Given the description of an element on the screen output the (x, y) to click on. 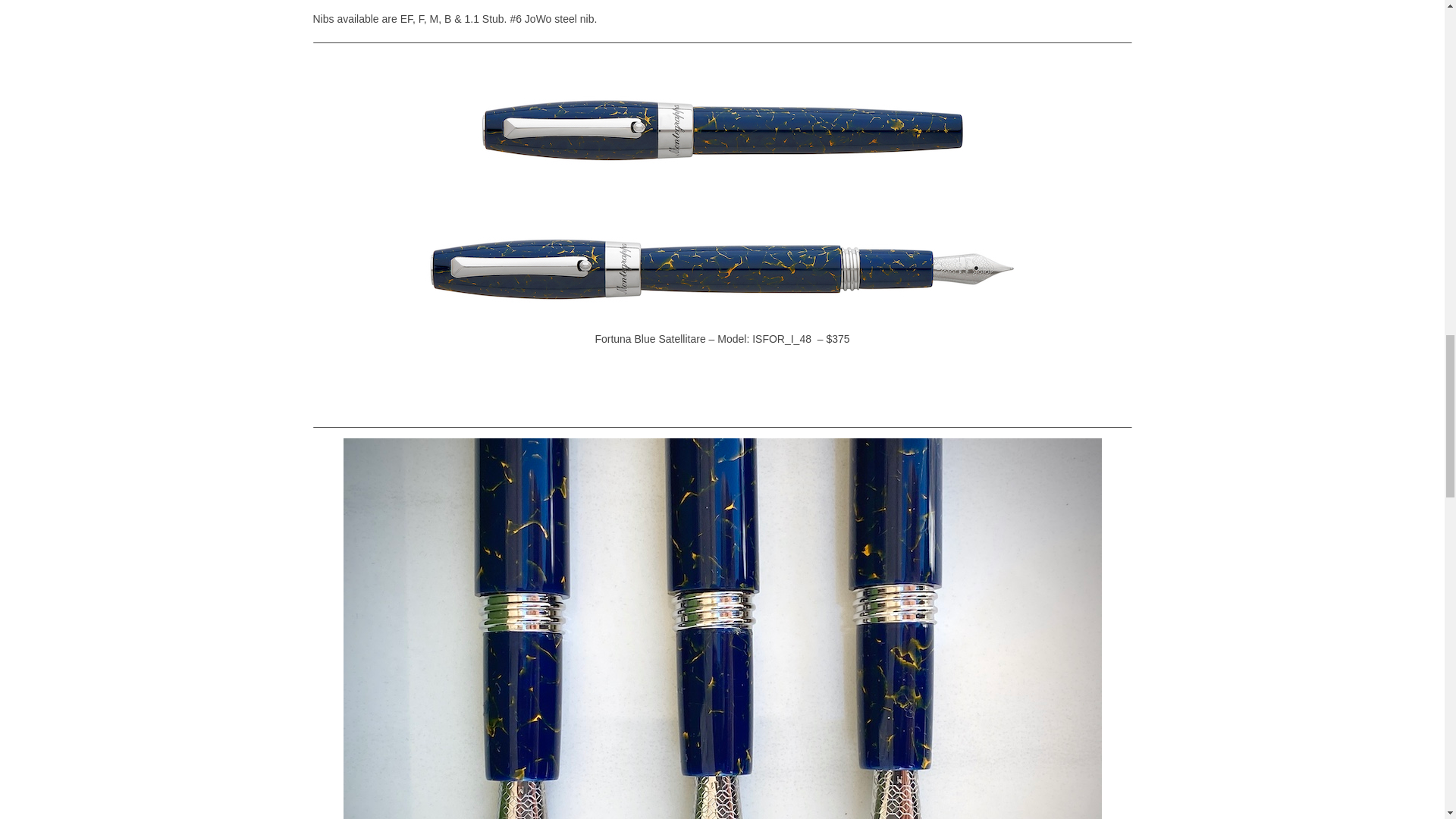
Page 5 (722, 13)
